Given the description of an element on the screen output the (x, y) to click on. 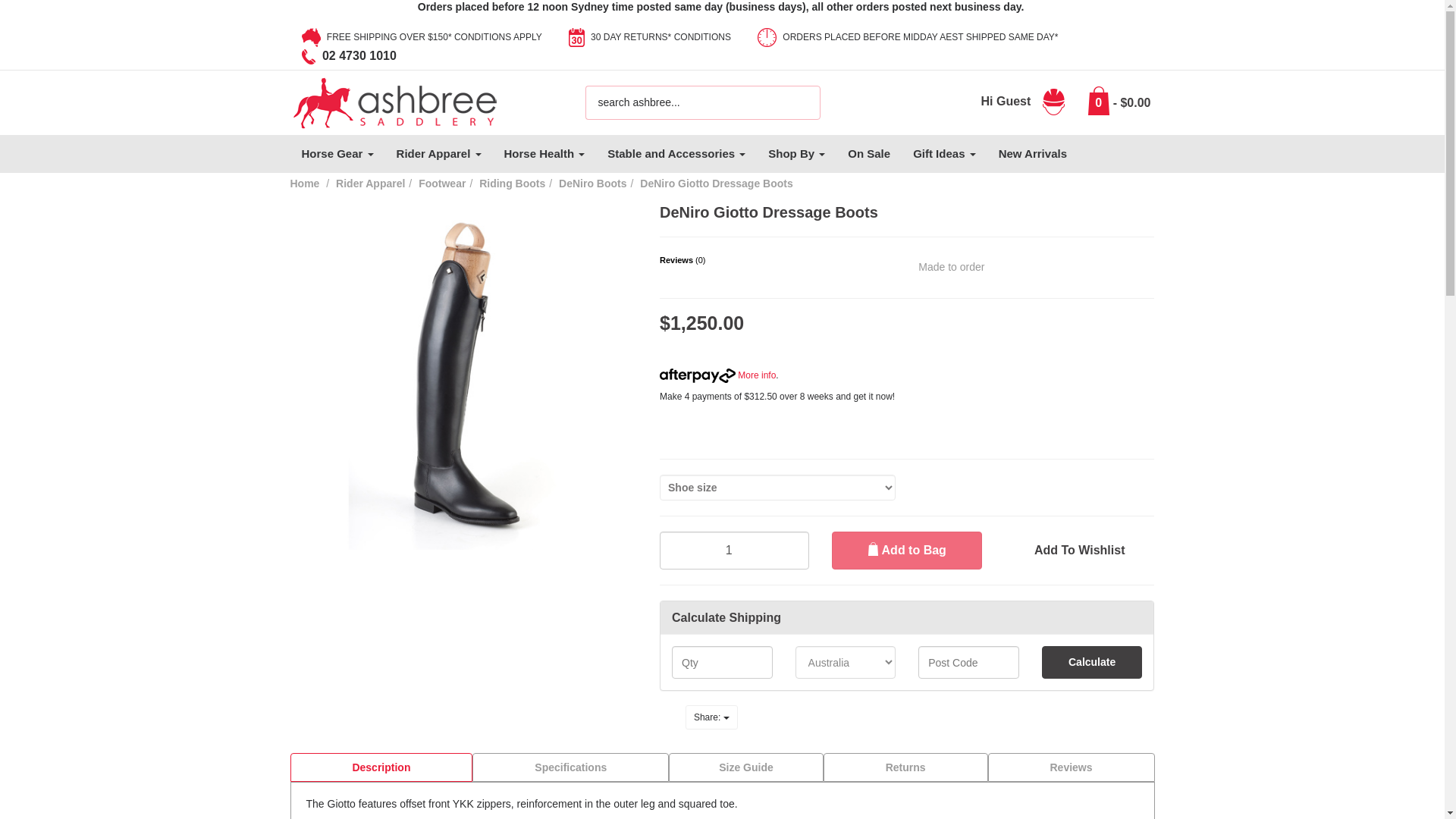
Add to Cart (906, 550)
02 4730 1010 (348, 55)
PayPal Message 1 (906, 420)
Ashbree Saddlery (394, 101)
1 (734, 550)
Calculate (1092, 662)
Horse Gear (336, 153)
Hi Guest (1024, 101)
